Given the description of an element on the screen output the (x, y) to click on. 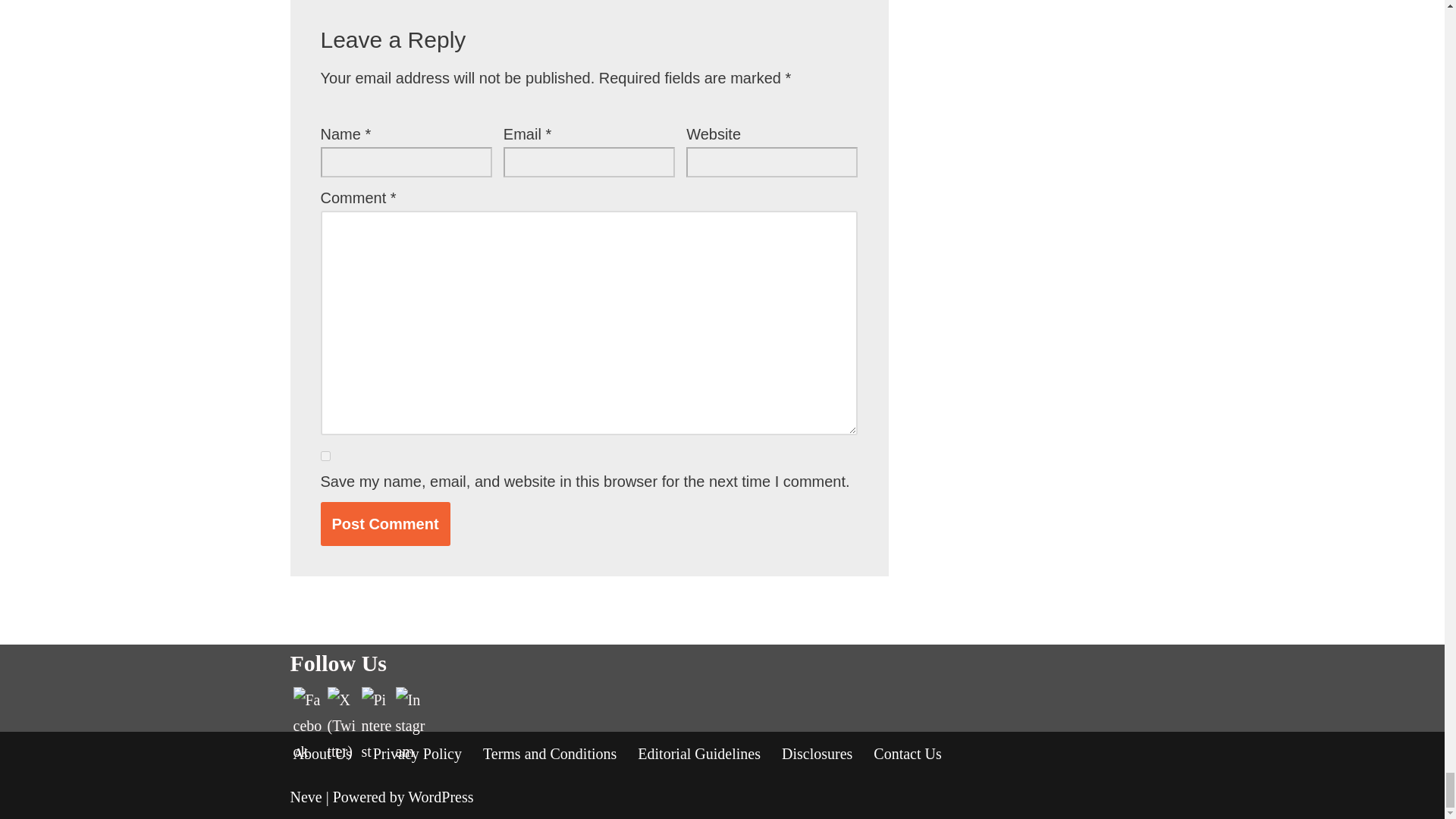
Post Comment (384, 523)
yes (325, 456)
Post Comment (384, 523)
